Given the description of an element on the screen output the (x, y) to click on. 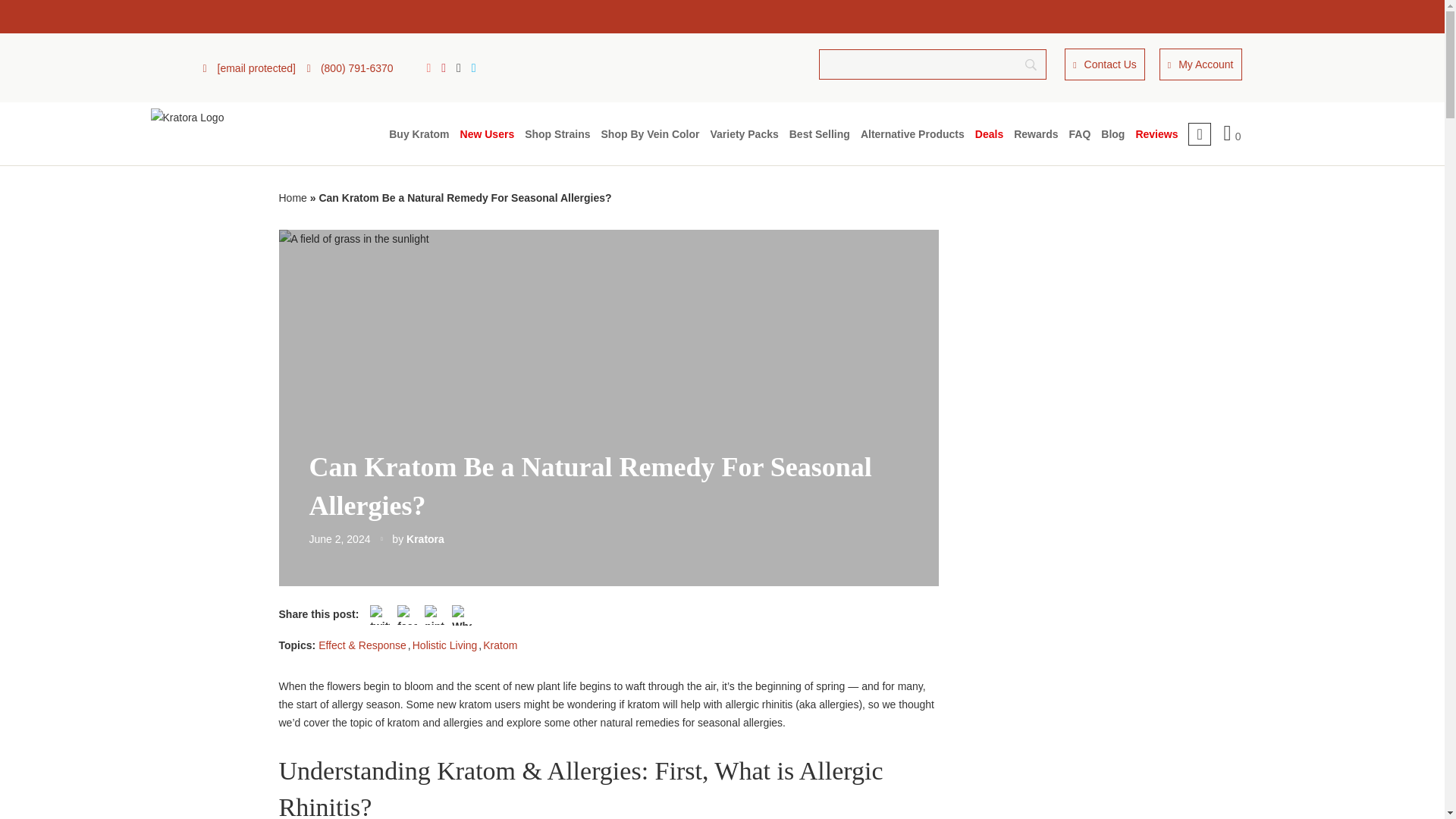
My Account (1199, 64)
Contact Us (1104, 64)
My Account (1199, 64)
Contact Us (1104, 64)
